Given the description of an element on the screen output the (x, y) to click on. 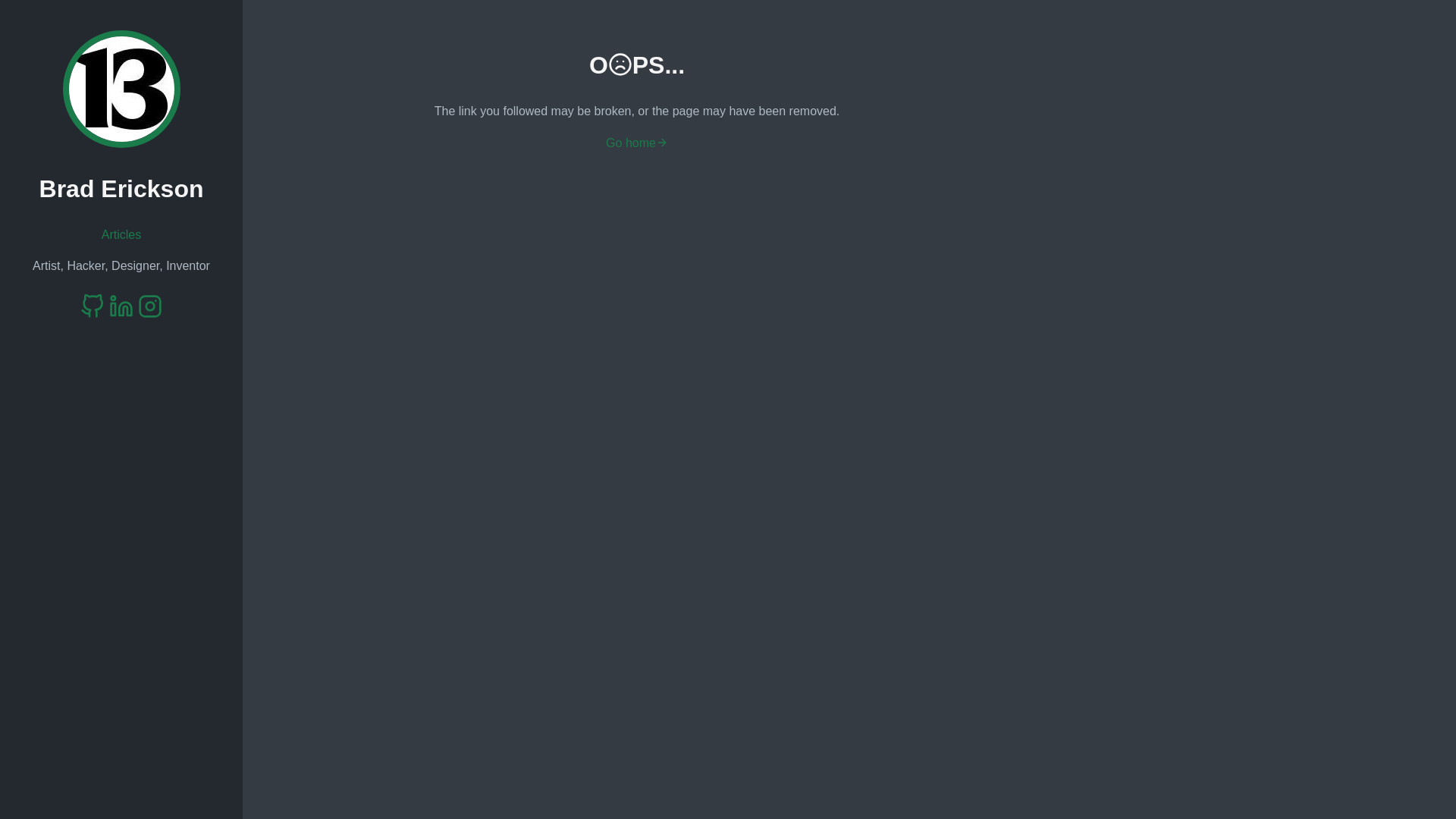
github Element type: text (92, 306)
Articles Element type: text (121, 234)
Go homearrow-right Element type: text (636, 142)
linkedin Element type: text (121, 306)
instagram Element type: text (150, 306)
